Given the description of an element on the screen output the (x, y) to click on. 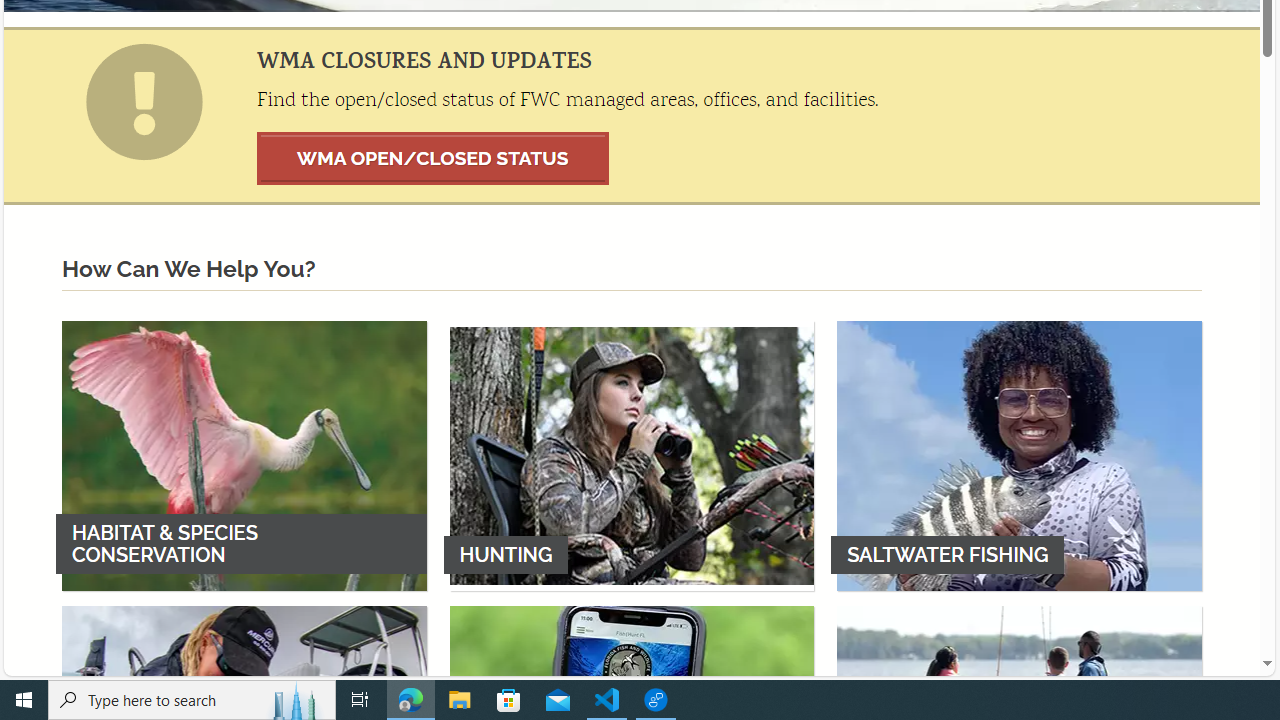
SALTWATER FISHING (1019, 455)
HABITAT & SPECIES CONSERVATION (244, 455)
HUNTING (632, 455)
WMA OPEN/CLOSED STATUS (433, 158)
